Given the description of an element on the screen output the (x, y) to click on. 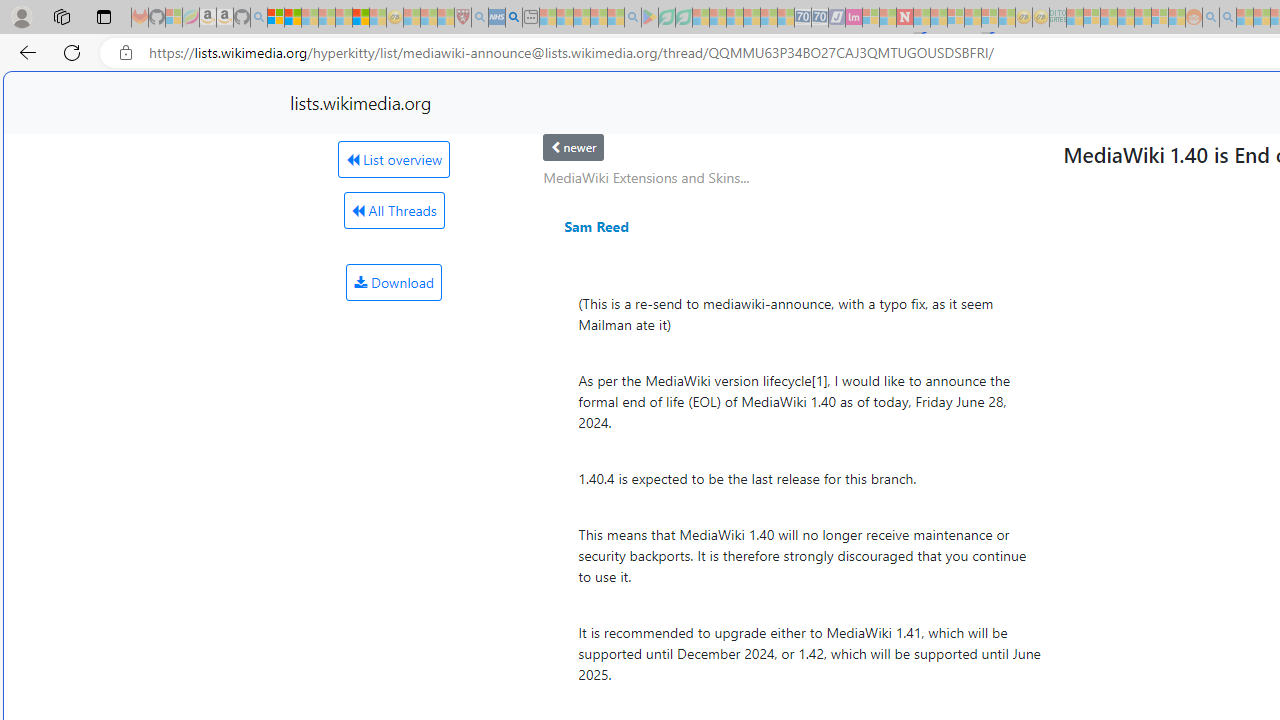
MediaWiki Extensions and Skins... (646, 177)
